Given the description of an element on the screen output the (x, y) to click on. 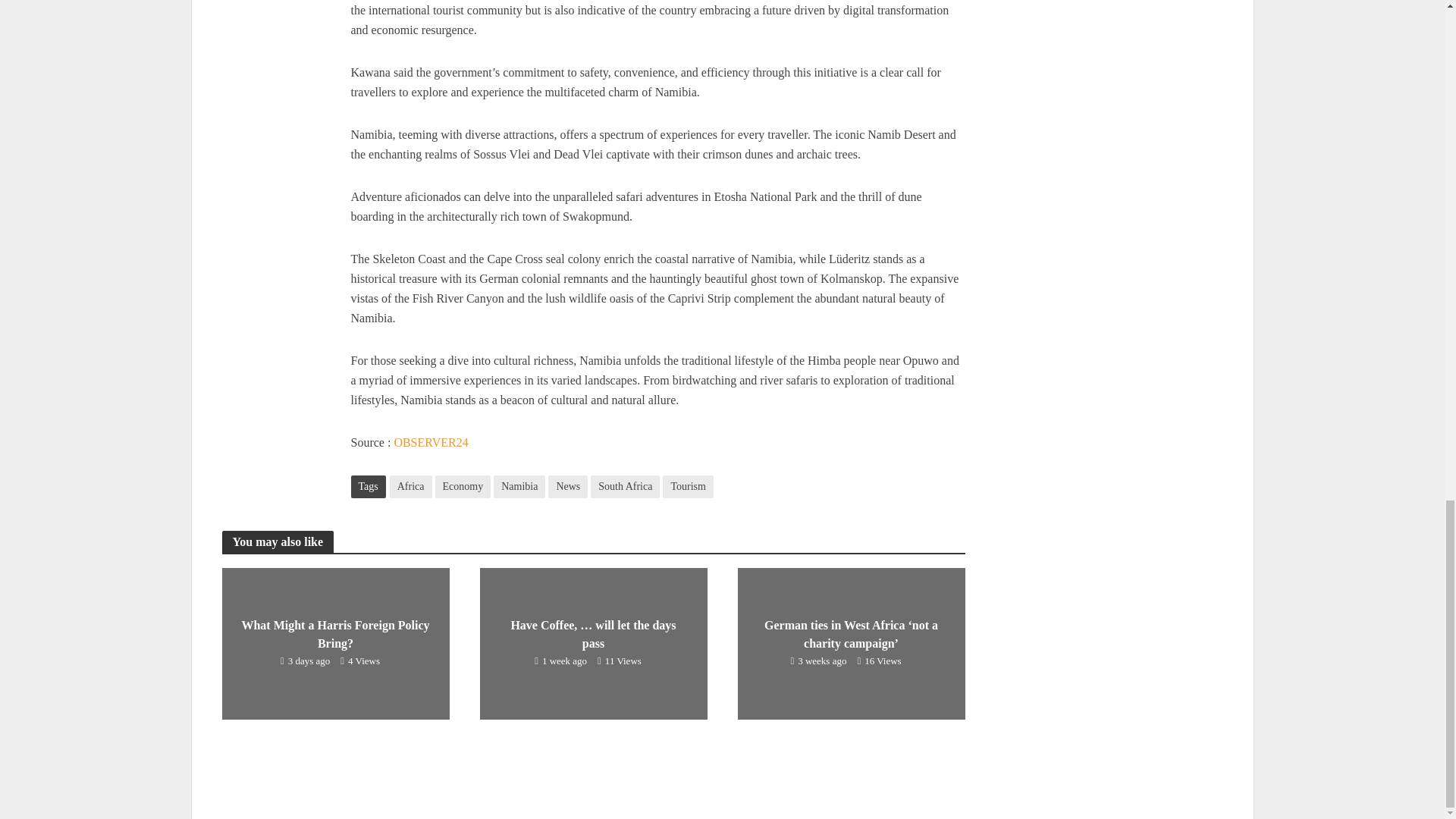
What Might a Harris Foreign Policy Bring? (334, 642)
